Given the description of an element on the screen output the (x, y) to click on. 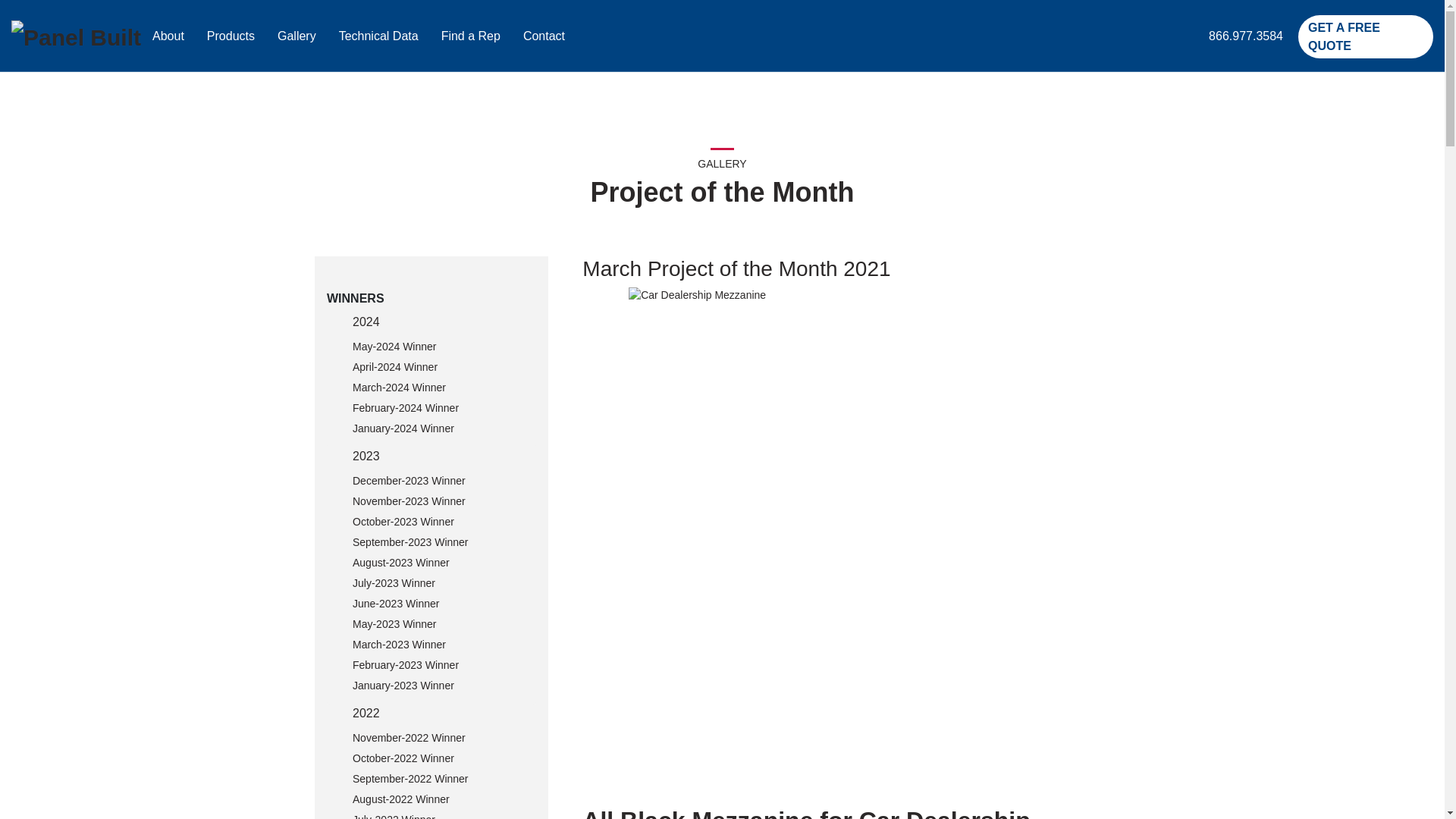
About (168, 36)
Products (230, 36)
